Given the description of an element on the screen output the (x, y) to click on. 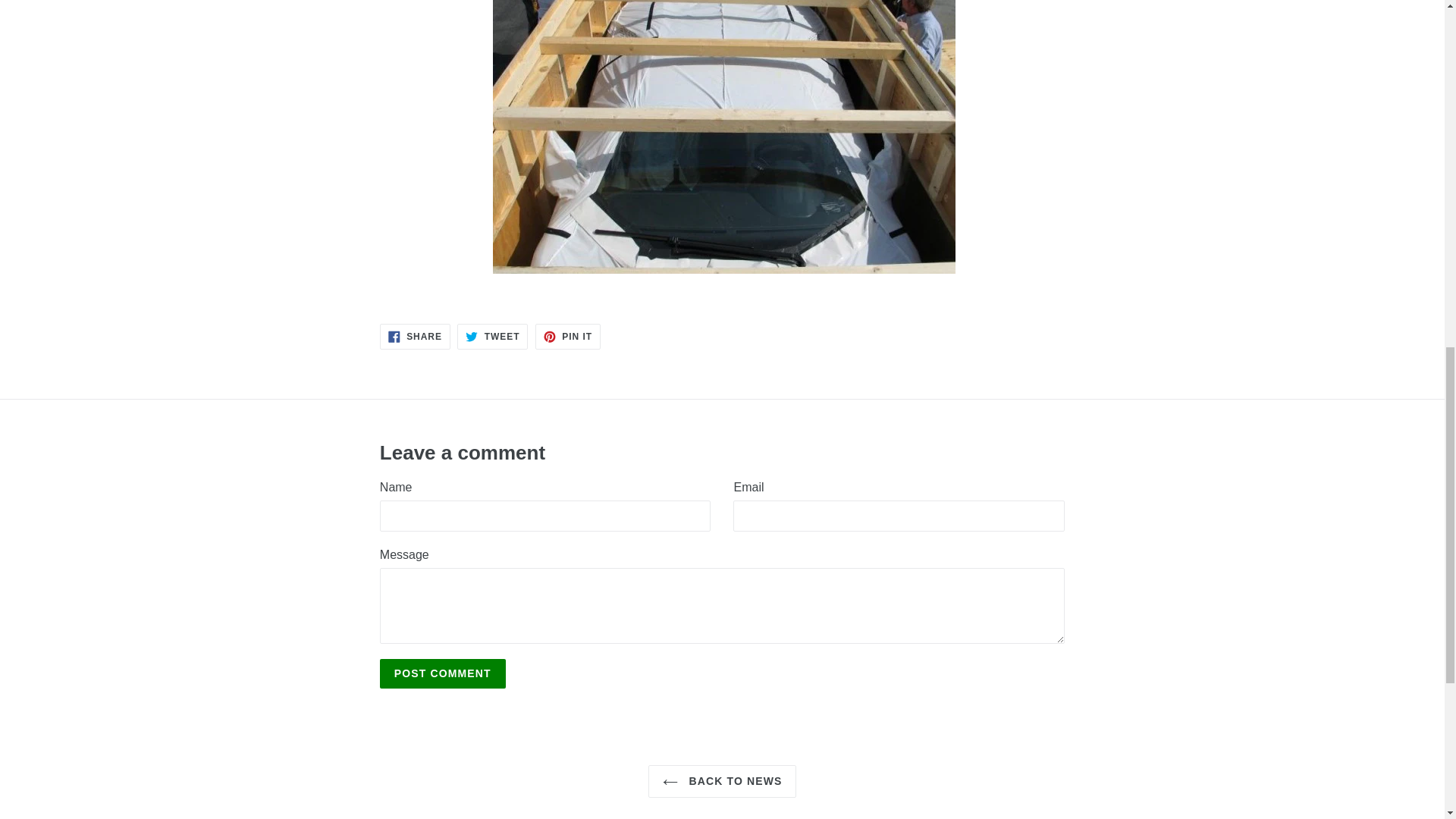
Post comment (442, 673)
Post comment (567, 336)
Pin on Pinterest (442, 673)
Share on Facebook (492, 336)
BACK TO NEWS (567, 336)
Tweet on Twitter (414, 336)
